Given the description of an element on the screen output the (x, y) to click on. 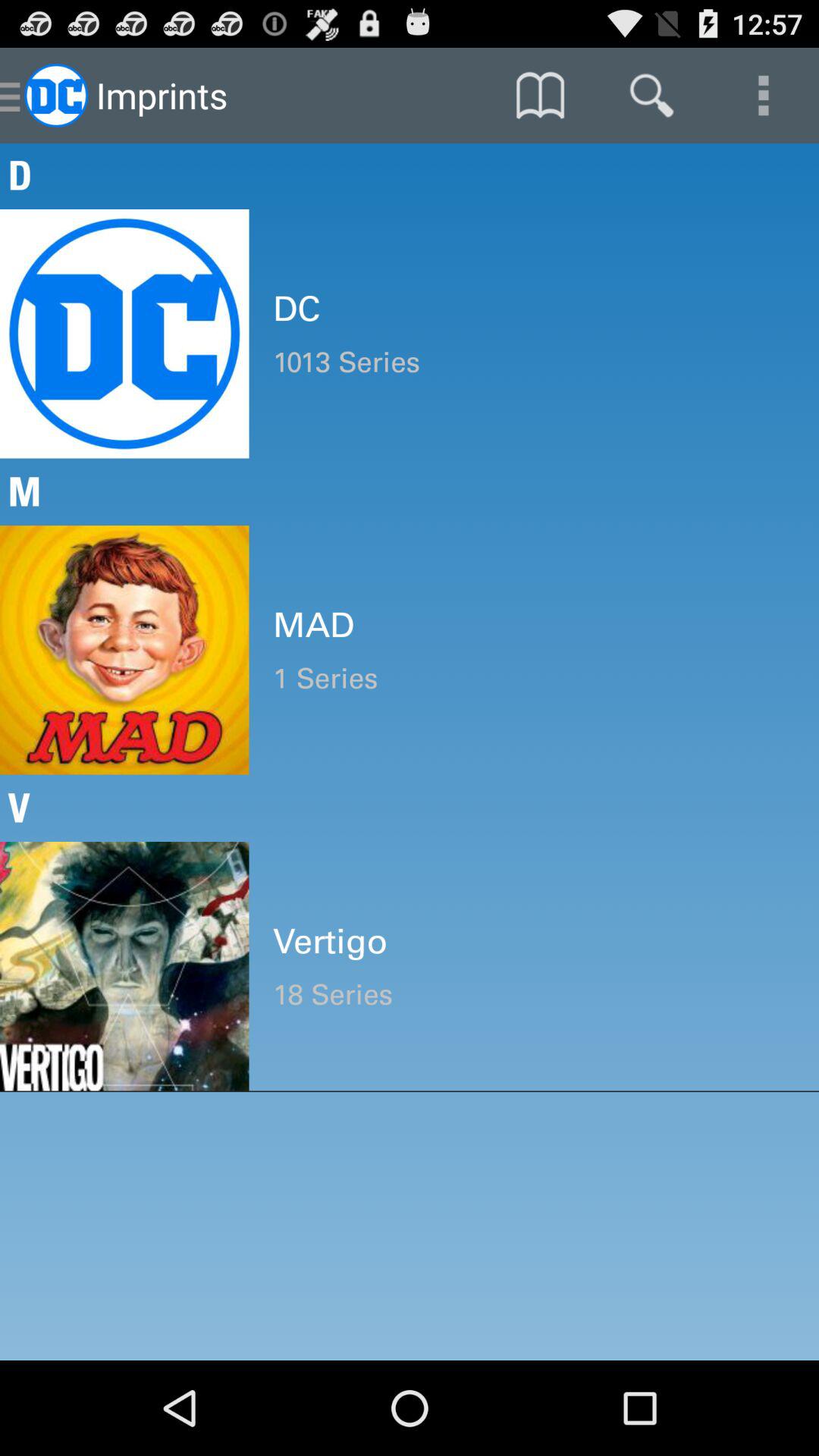
press icon at the bottom (534, 994)
